Given the description of an element on the screen output the (x, y) to click on. 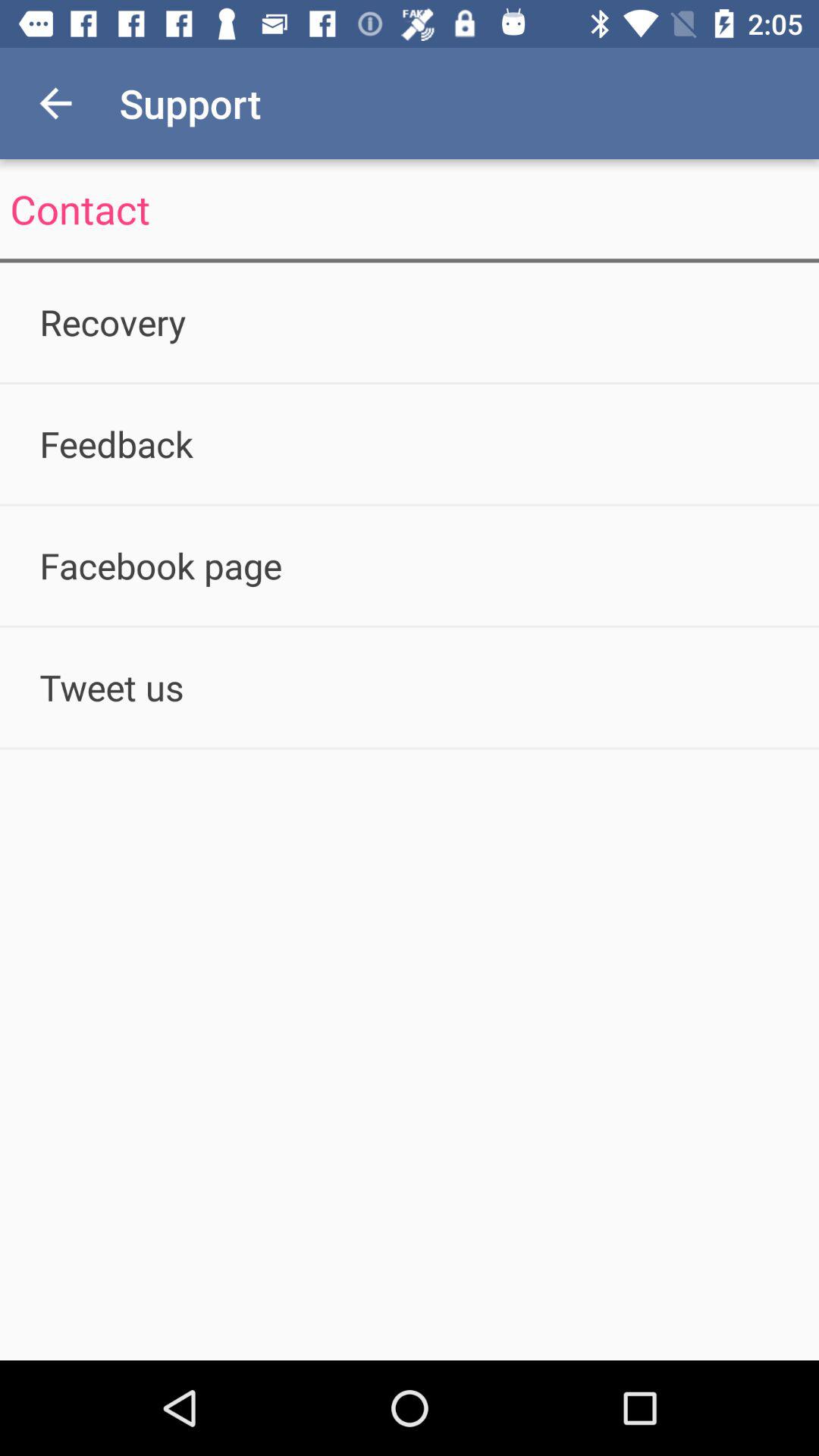
tap icon next to support app (55, 103)
